Given the description of an element on the screen output the (x, y) to click on. 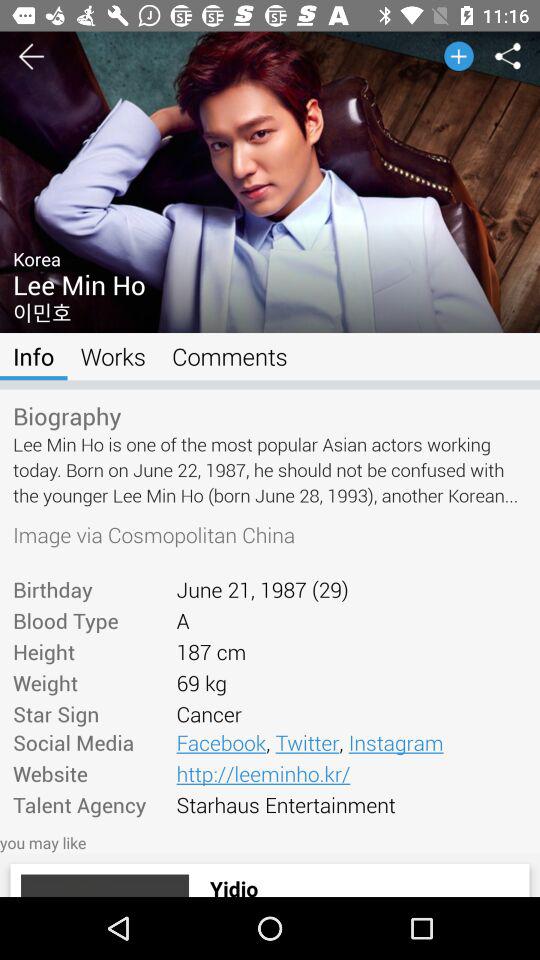
open facebook, twitter, instagram (351, 742)
